Given the description of an element on the screen output the (x, y) to click on. 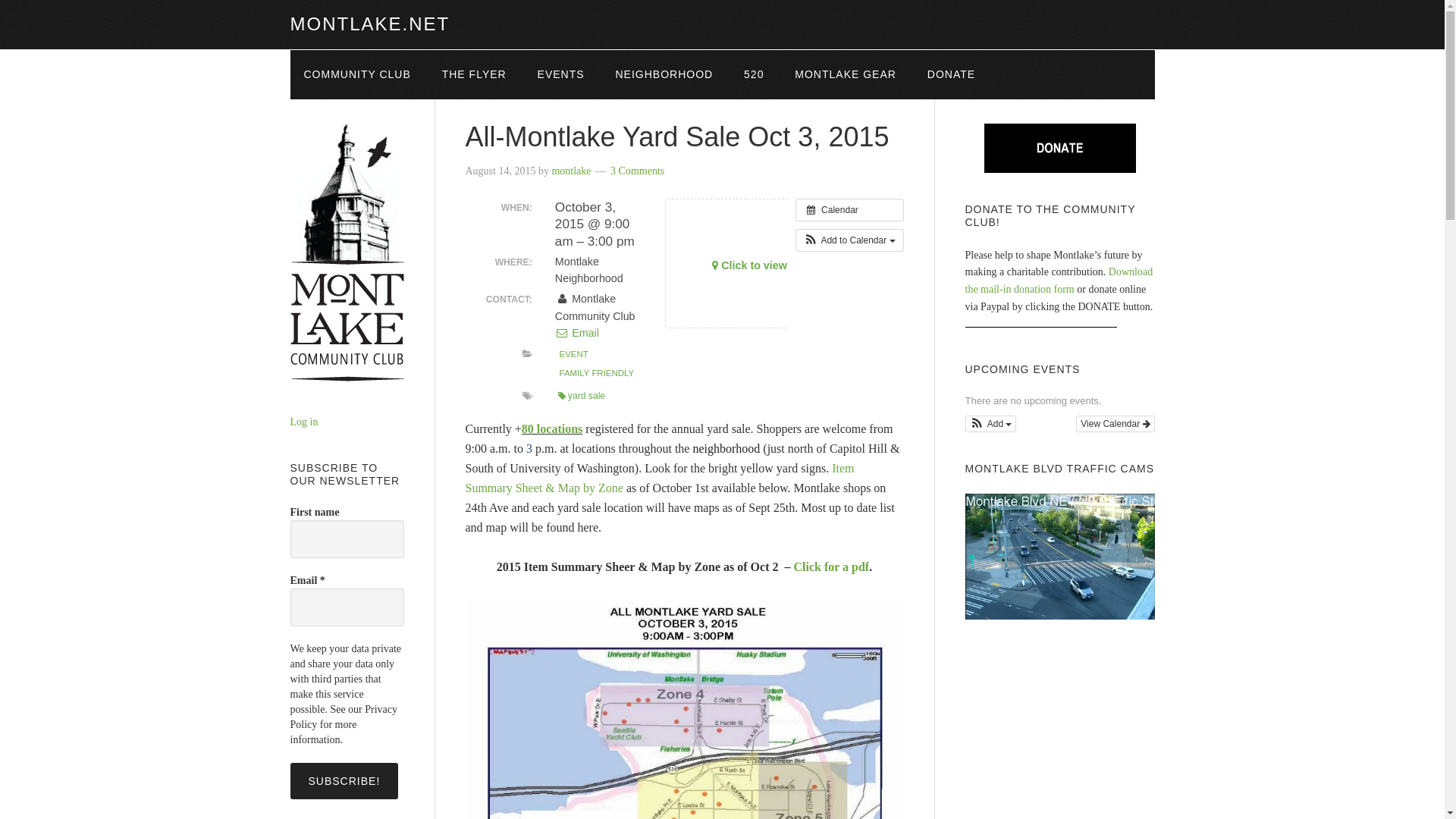
View all events (849, 210)
MONTLAKE GEAR (845, 74)
THE FLYER (473, 74)
Everything 520 Page (753, 74)
MONTLAKE.NET (369, 23)
520 (753, 74)
montlake (571, 170)
COMMUNITY CLUB (356, 74)
Tags (527, 395)
NEIGHBORHOOD (663, 74)
Categories (527, 353)
DONATE (951, 74)
Calendar (849, 210)
3 Comments (636, 170)
EVENTS (561, 74)
